Given the description of an element on the screen output the (x, y) to click on. 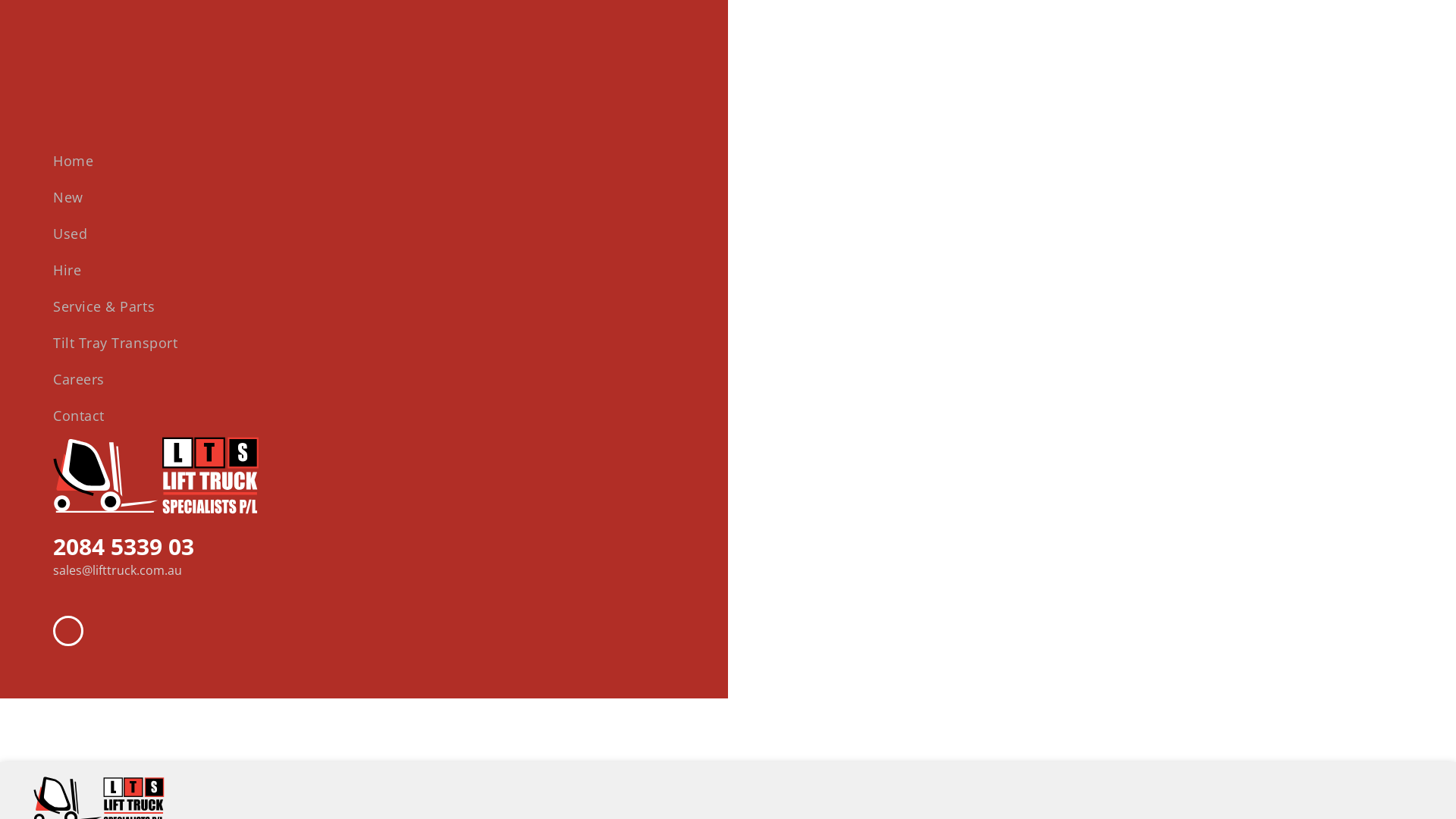
Contact Element type: text (417, 415)
Hire Element type: text (417, 269)
Used Element type: text (417, 233)
Service & Parts Element type: text (417, 306)
Home Element type: text (417, 160)
Careers Element type: text (417, 378)
03 5339 2084 Element type: text (123, 545)
Back to home Element type: hover (154, 478)
Tilt Tray Transport Element type: text (417, 342)
sales@lifttruck.com.au Element type: text (117, 569)
New Element type: text (417, 196)
